Given the description of an element on the screen output the (x, y) to click on. 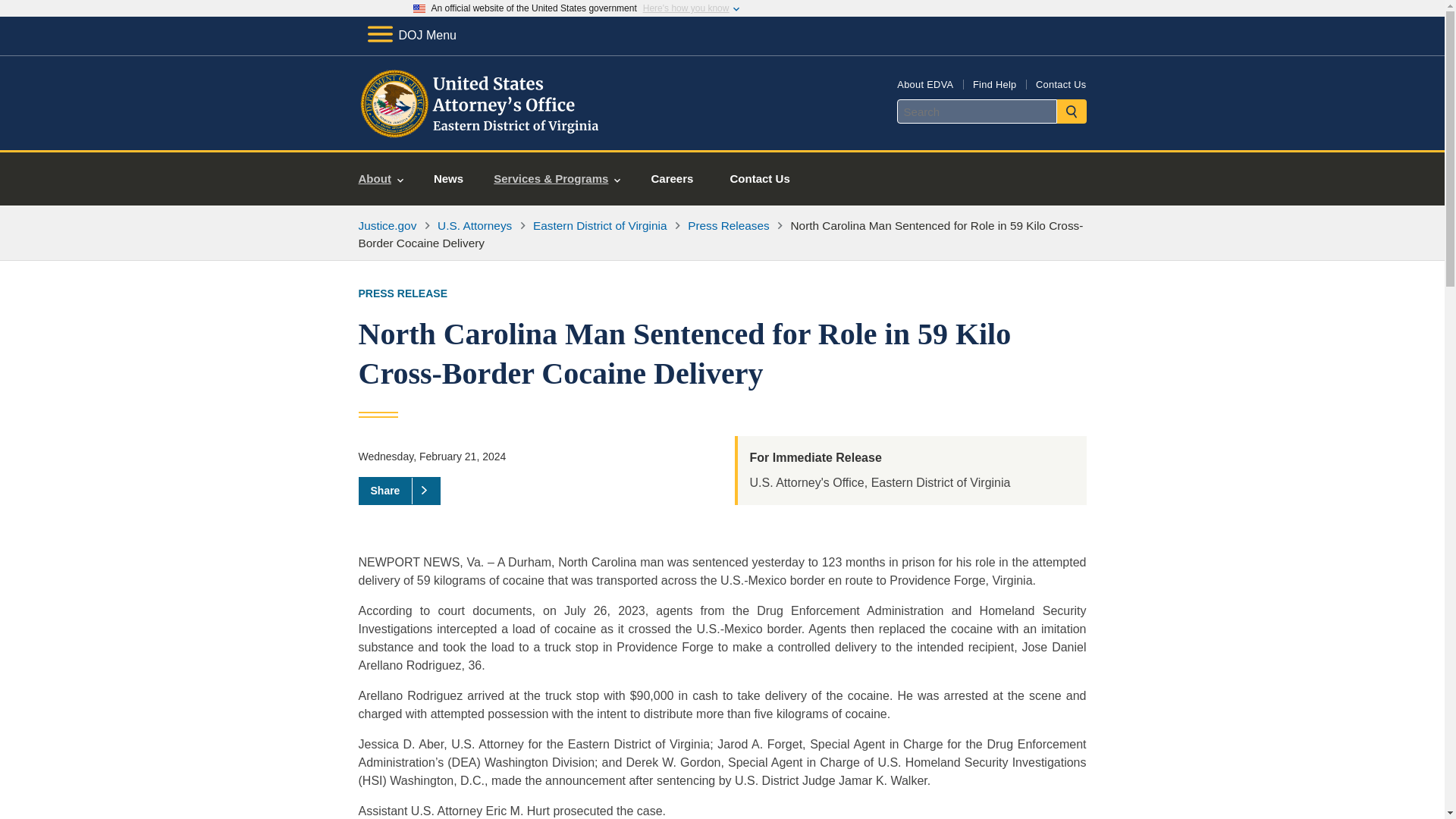
U.S. Attorneys (475, 225)
DOJ Menu (411, 35)
Contact Us (759, 179)
About EDVA (924, 84)
Share (398, 490)
Here's how you know (686, 8)
Contact Us (1060, 84)
Careers (671, 179)
Home (481, 132)
Find Help (994, 84)
About (380, 179)
News (447, 179)
Press Releases (728, 225)
Justice.gov (387, 225)
Eastern District of Virginia (599, 225)
